Given the description of an element on the screen output the (x, y) to click on. 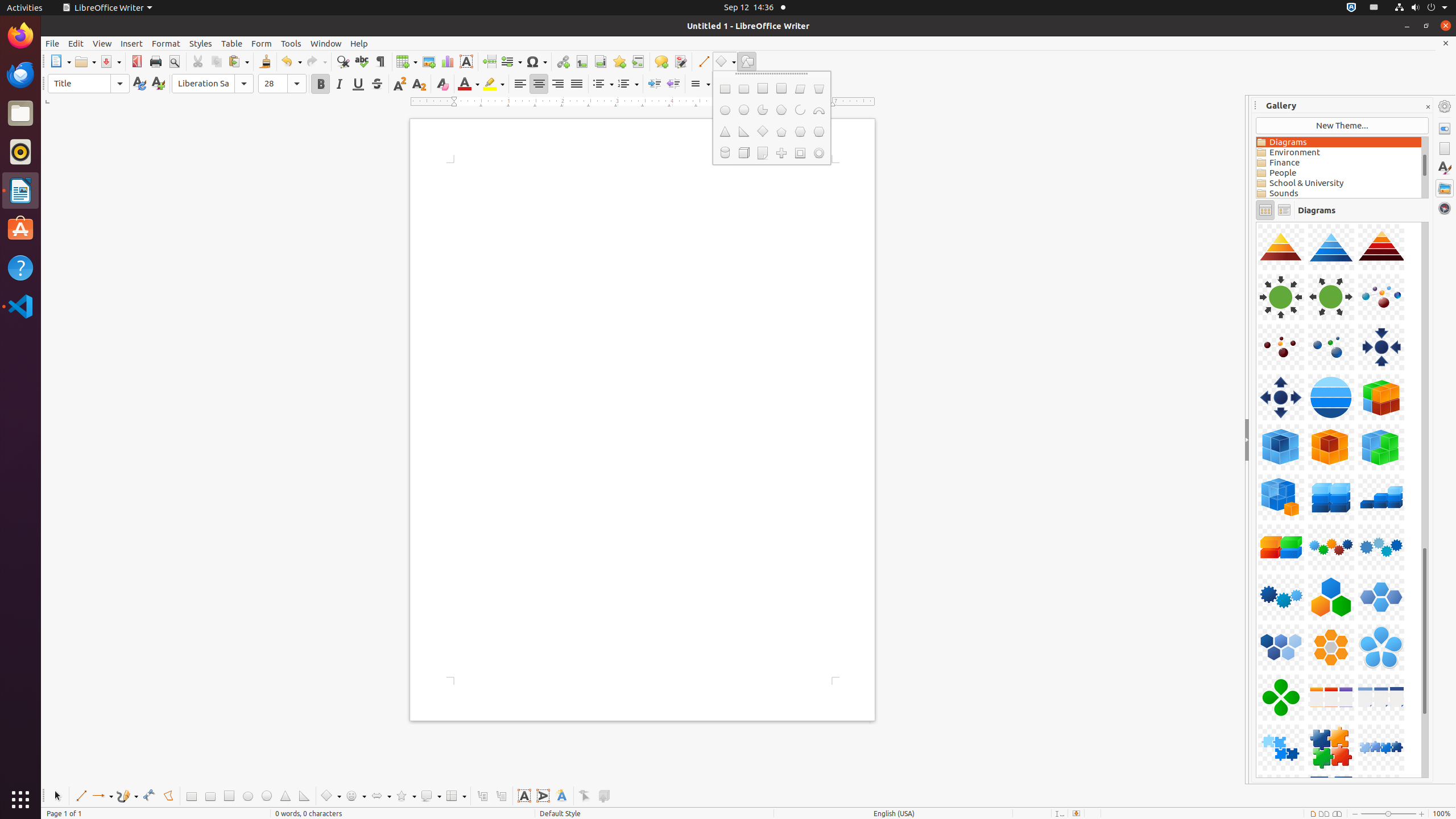
Parallelogram Element type: toggle-button (799, 88)
Toggle Extrusion Element type: push-button (603, 795)
Component-Person01-DarkBlue Element type: list-item (1256, 222)
Spelling Element type: push-button (361, 61)
New Theme Element type: push-button (1341, 125)
